Given the description of an element on the screen output the (x, y) to click on. 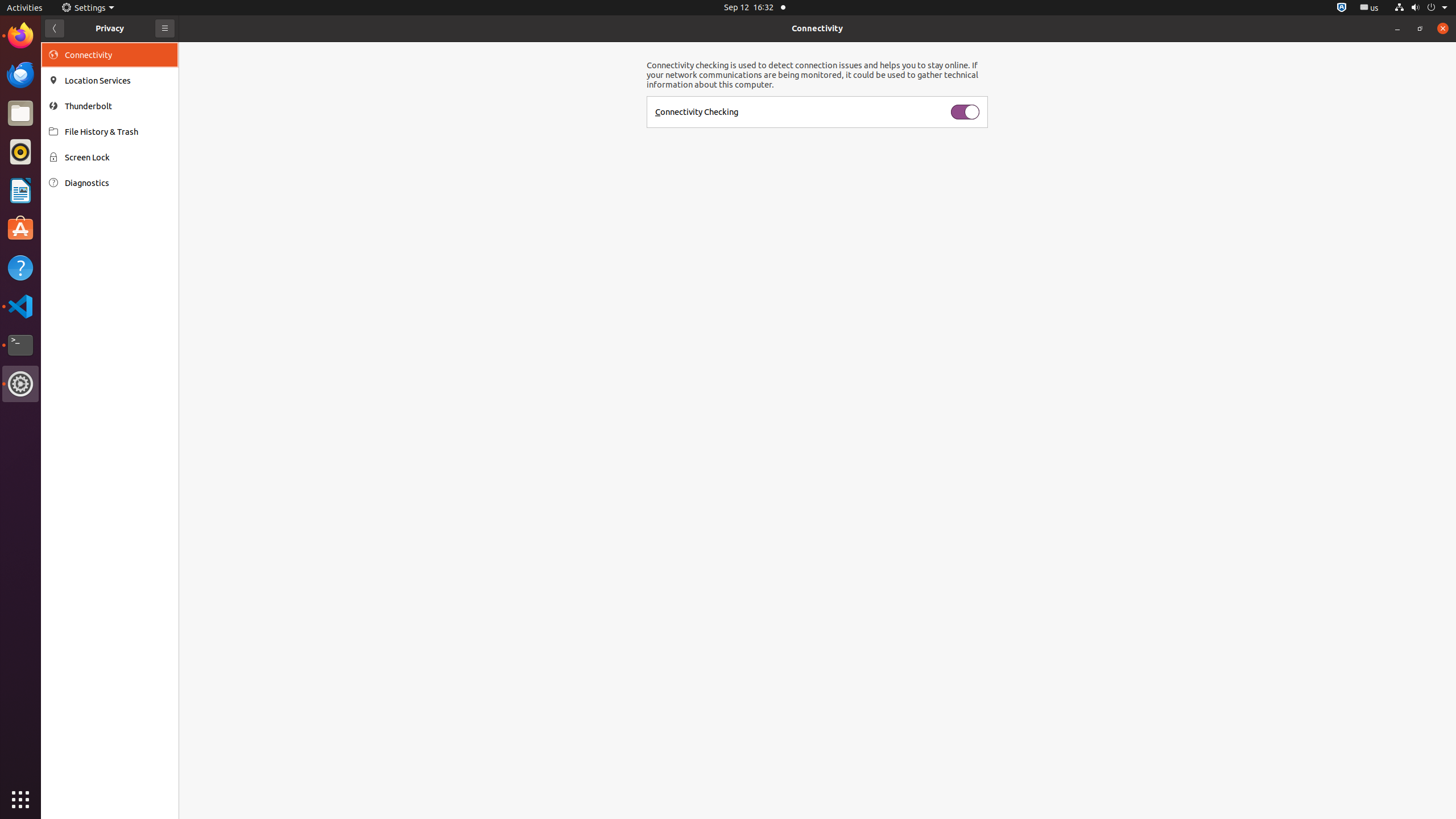
Close Element type: push-button (1442, 27)
Minimize Element type: push-button (1397, 27)
Privacy Element type: label (109, 27)
